Given the description of an element on the screen output the (x, y) to click on. 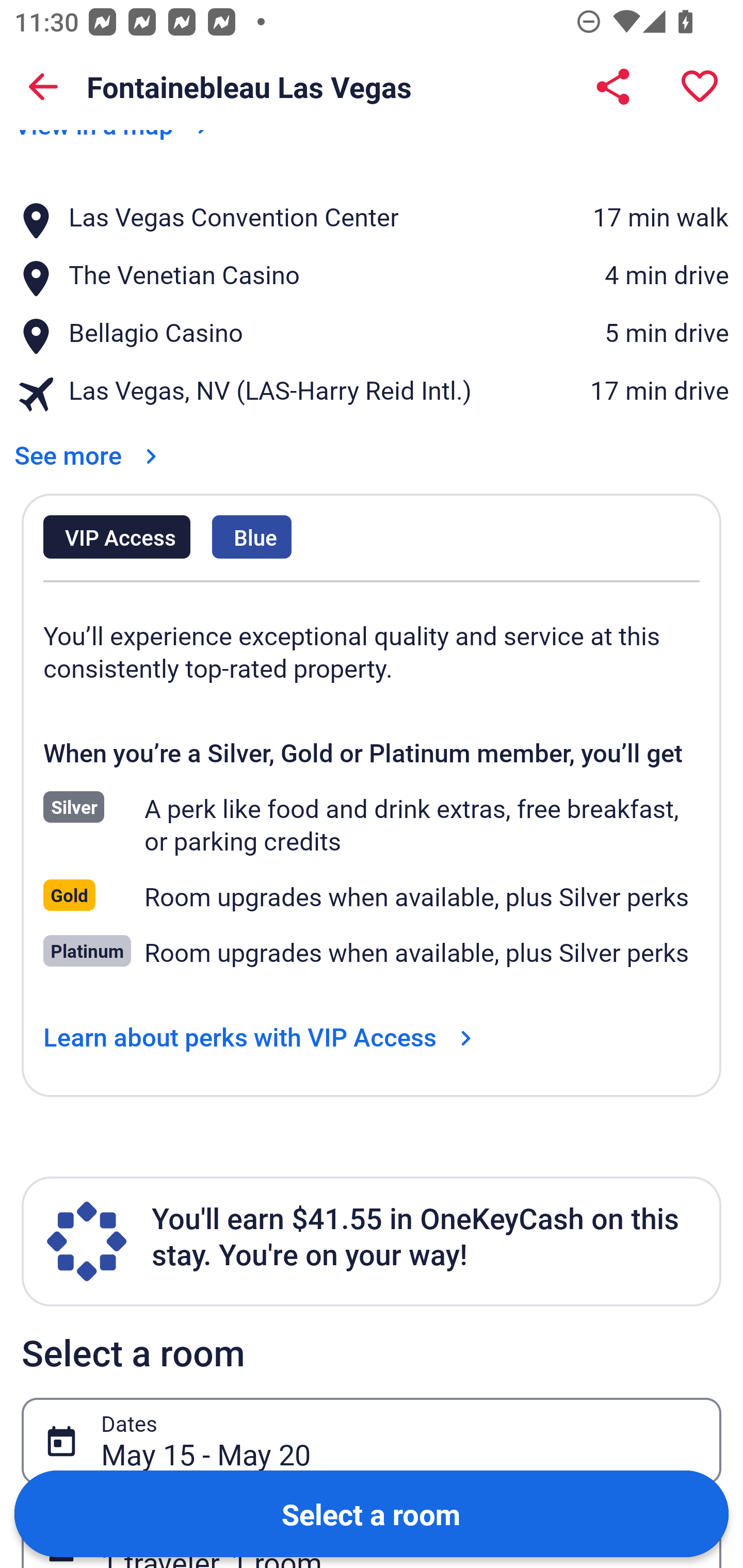
Back (43, 86)
Save property to a trip (699, 86)
Share Fontainebleau Las Vegas (612, 87)
See more (89, 440)
May 15 - May 20 Dates (371, 1440)
May 15 - May 20 (400, 1440)
Select a room Button Select a room (371, 1513)
